Given the description of an element on the screen output the (x, y) to click on. 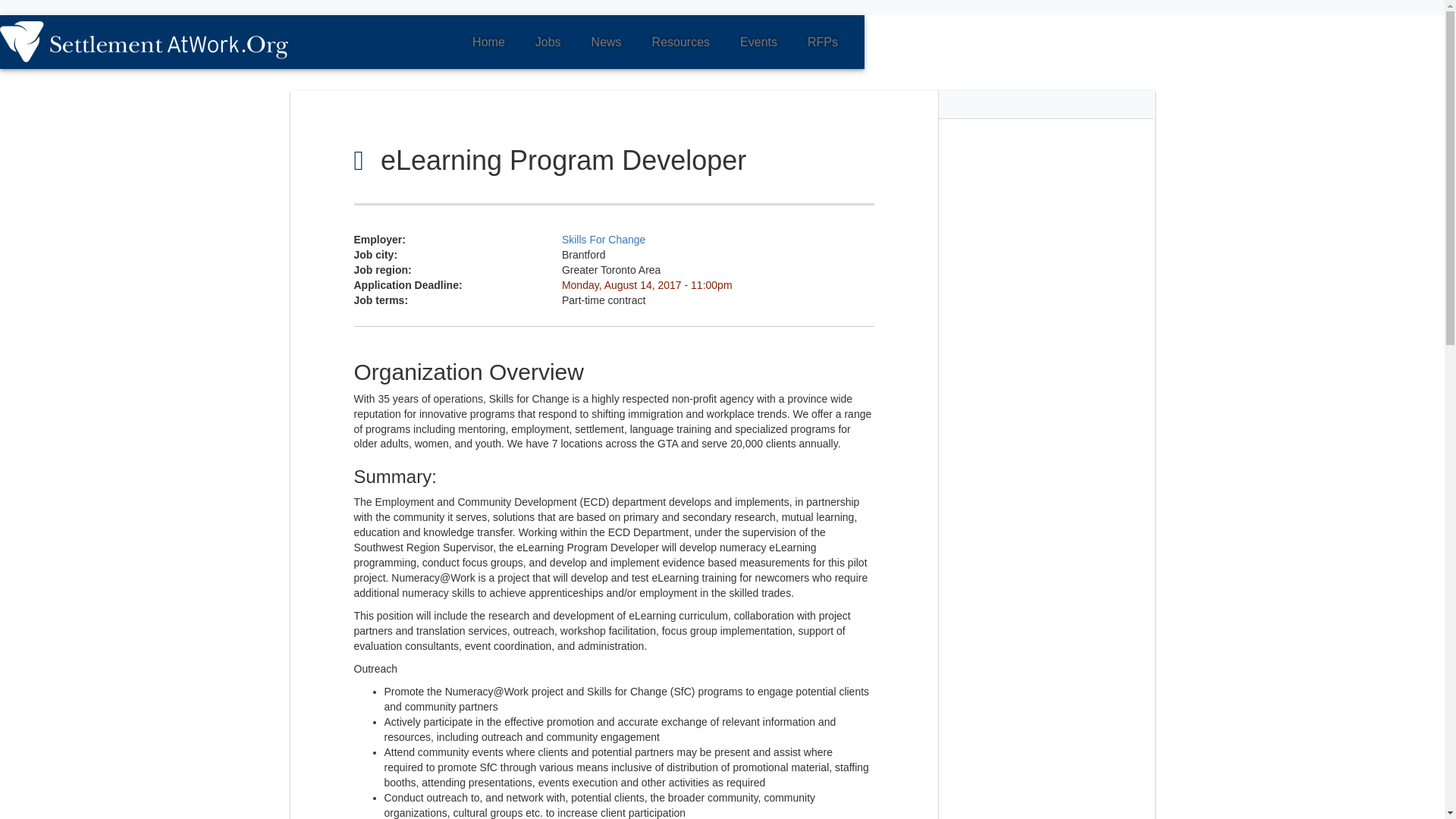
Events (759, 42)
Resources (680, 42)
RFPs (822, 42)
Skills For Change (604, 239)
Jobs (548, 42)
resources (680, 42)
Home (149, 42)
News (606, 42)
Home (488, 42)
